Given the description of an element on the screen output the (x, y) to click on. 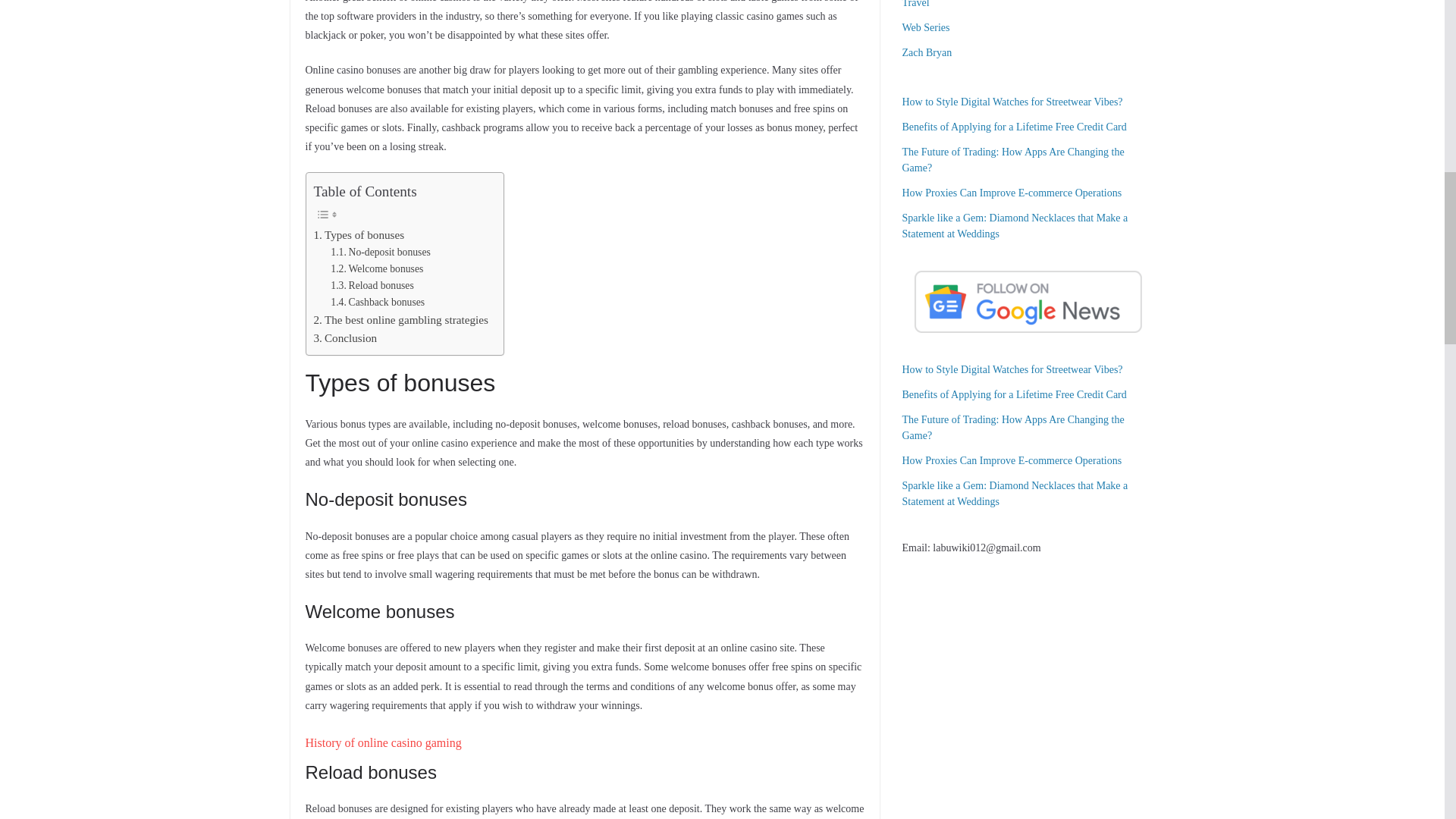
Conclusion (345, 338)
The best online gambling strategies (400, 320)
Conclusion (345, 338)
Reload bonuses (371, 285)
The best online gambling strategies (400, 320)
No-deposit bonuses (379, 252)
Welcome bonuses (376, 269)
Types of bonuses (359, 235)
History of online casino gaming (382, 742)
Cashback bonuses (377, 302)
